Given the description of an element on the screen output the (x, y) to click on. 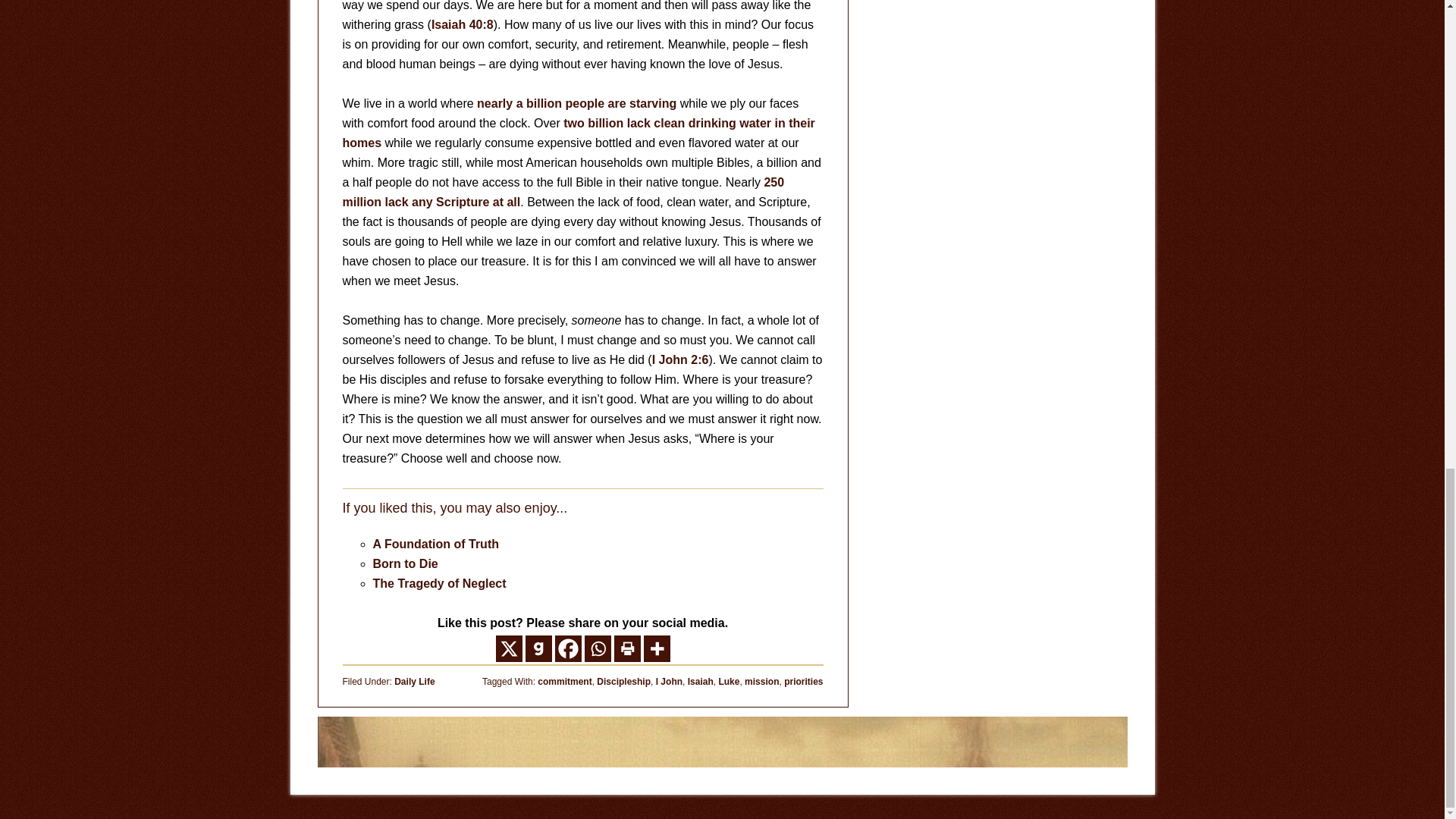
I John (669, 681)
nearly a billion people are starving (577, 103)
two billion lack clean drinking water in their homes (578, 133)
mission (761, 681)
Born to Die (405, 563)
A Foundation of Truth (435, 543)
commitment (564, 681)
More (656, 648)
Isaiah (700, 681)
Gab (537, 648)
Born to Die (405, 563)
Facebook (567, 648)
Print (627, 648)
Whatsapp (596, 648)
Isaiah 40:8 (461, 24)
